Given the description of an element on the screen output the (x, y) to click on. 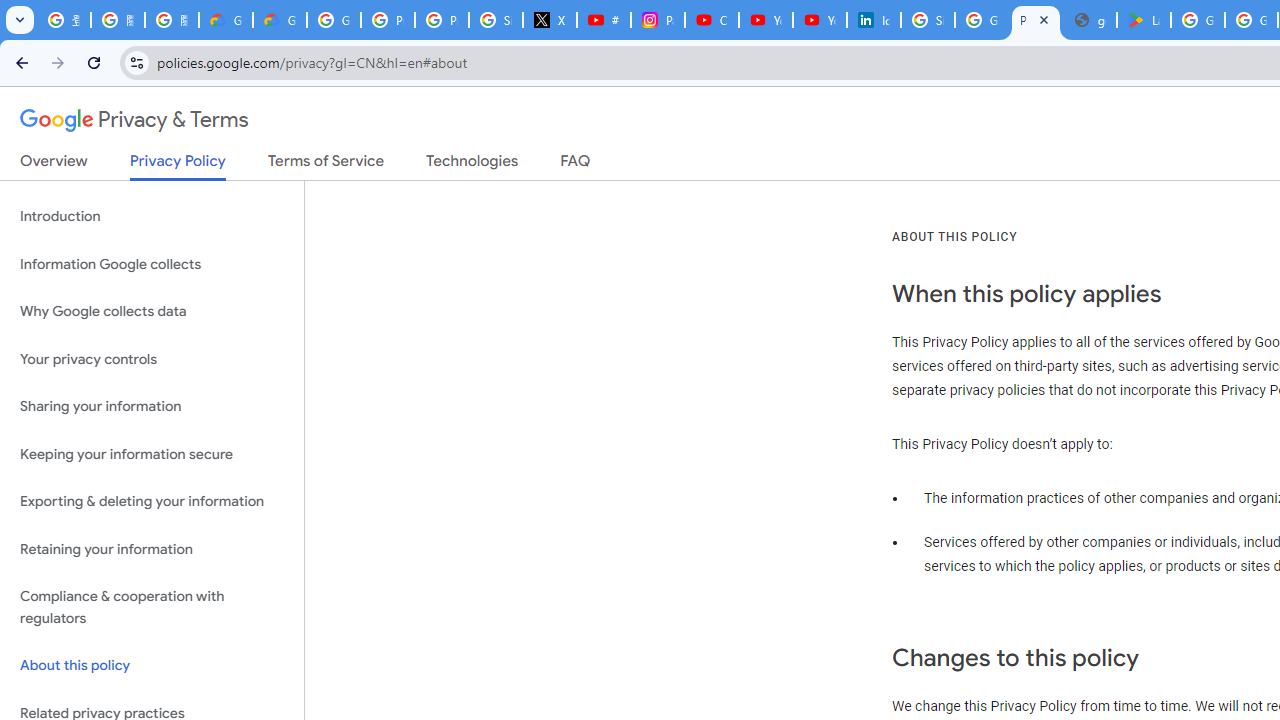
Retaining your information (152, 548)
Terms of Service (326, 165)
YouTube Culture & Trends - YouTube Top 10, 2021 (819, 20)
Sign in - Google Accounts (927, 20)
Why Google collects data (152, 312)
Google Cloud Privacy Notice (280, 20)
Compliance & cooperation with regulators (152, 607)
Information Google collects (152, 263)
